Given the description of an element on the screen output the (x, y) to click on. 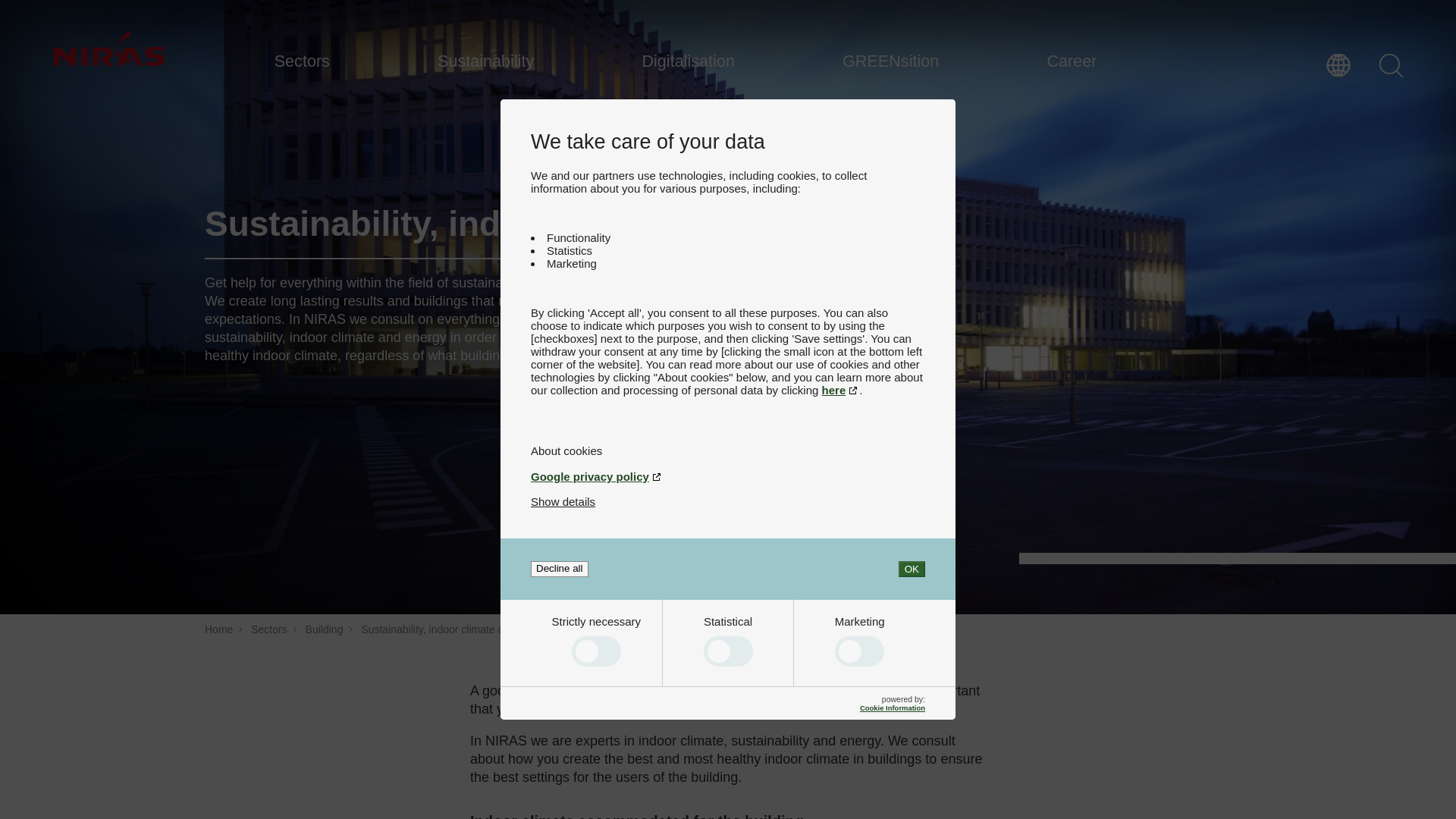
About cookies (727, 450)
Google privacy policy (727, 476)
here (841, 390)
OK (911, 569)
Show details (563, 501)
Cookie Information (892, 707)
Decline all (559, 569)
